Given the description of an element on the screen output the (x, y) to click on. 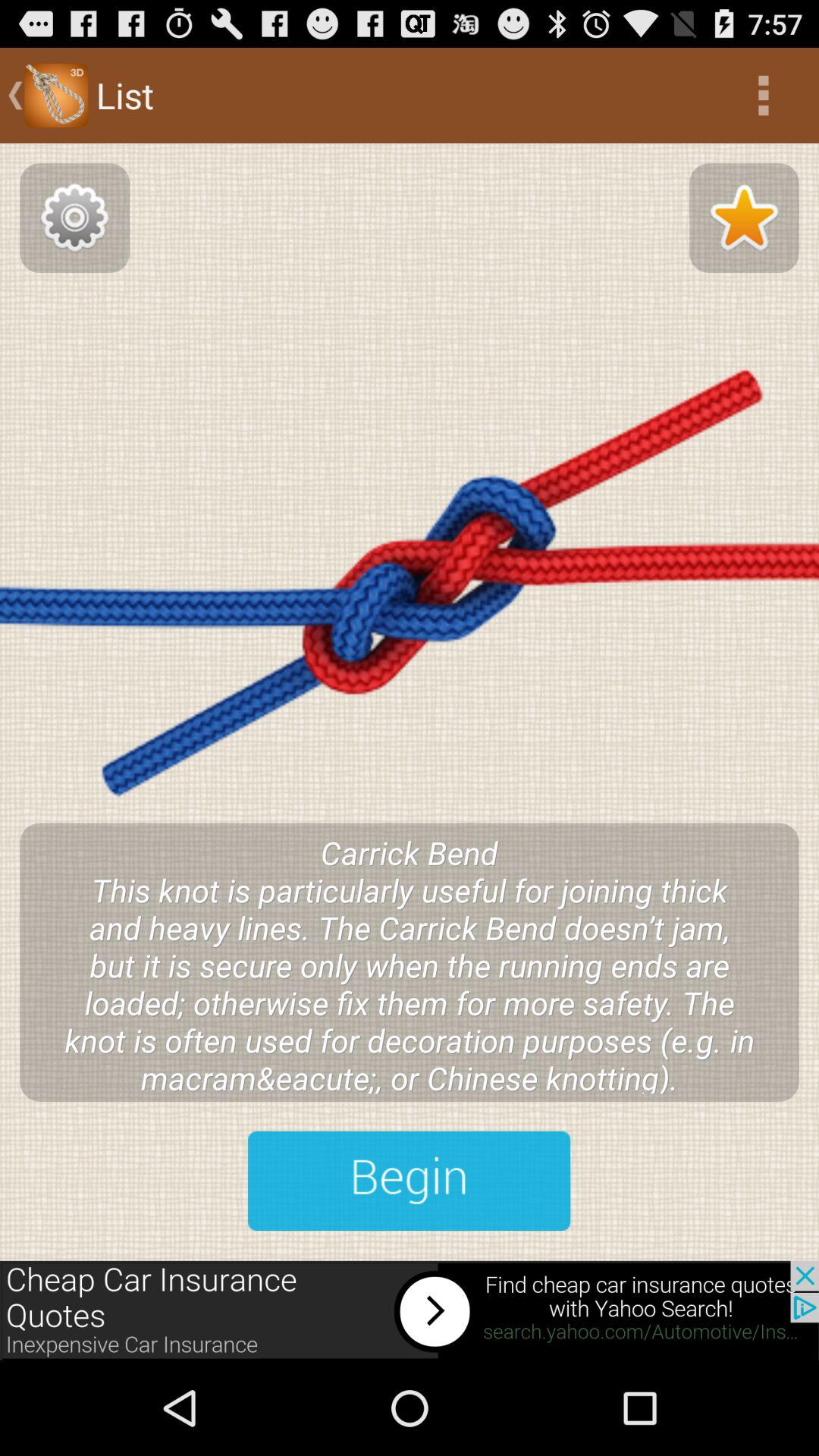
star button (744, 218)
